Given the description of an element on the screen output the (x, y) to click on. 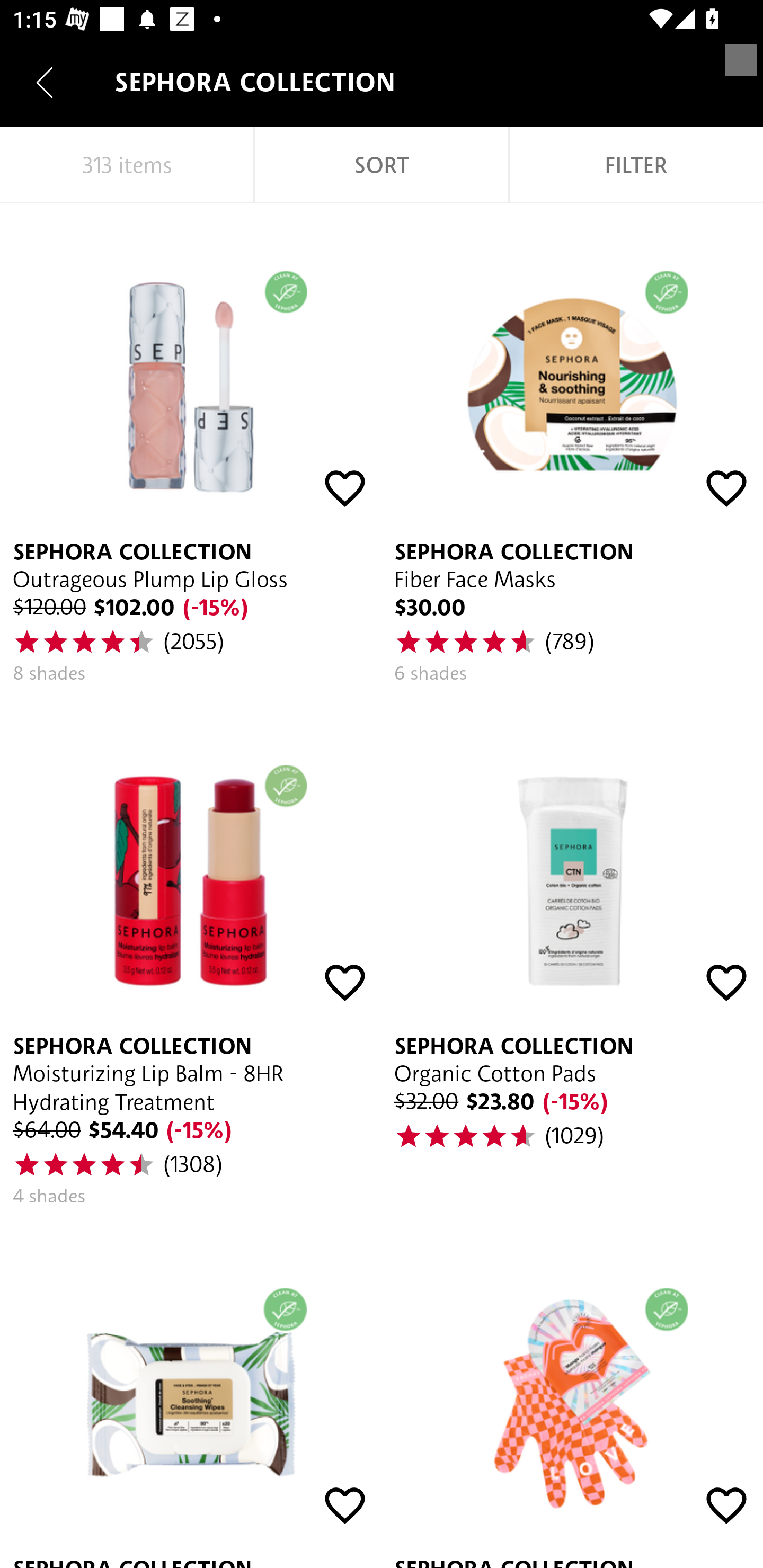
Navigate up (44, 82)
SORT (381, 165)
FILTER (636, 165)
SEPHORA COLLECTION (190, 1393)
SEPHORA COLLECTION (572, 1393)
